Given the description of an element on the screen output the (x, y) to click on. 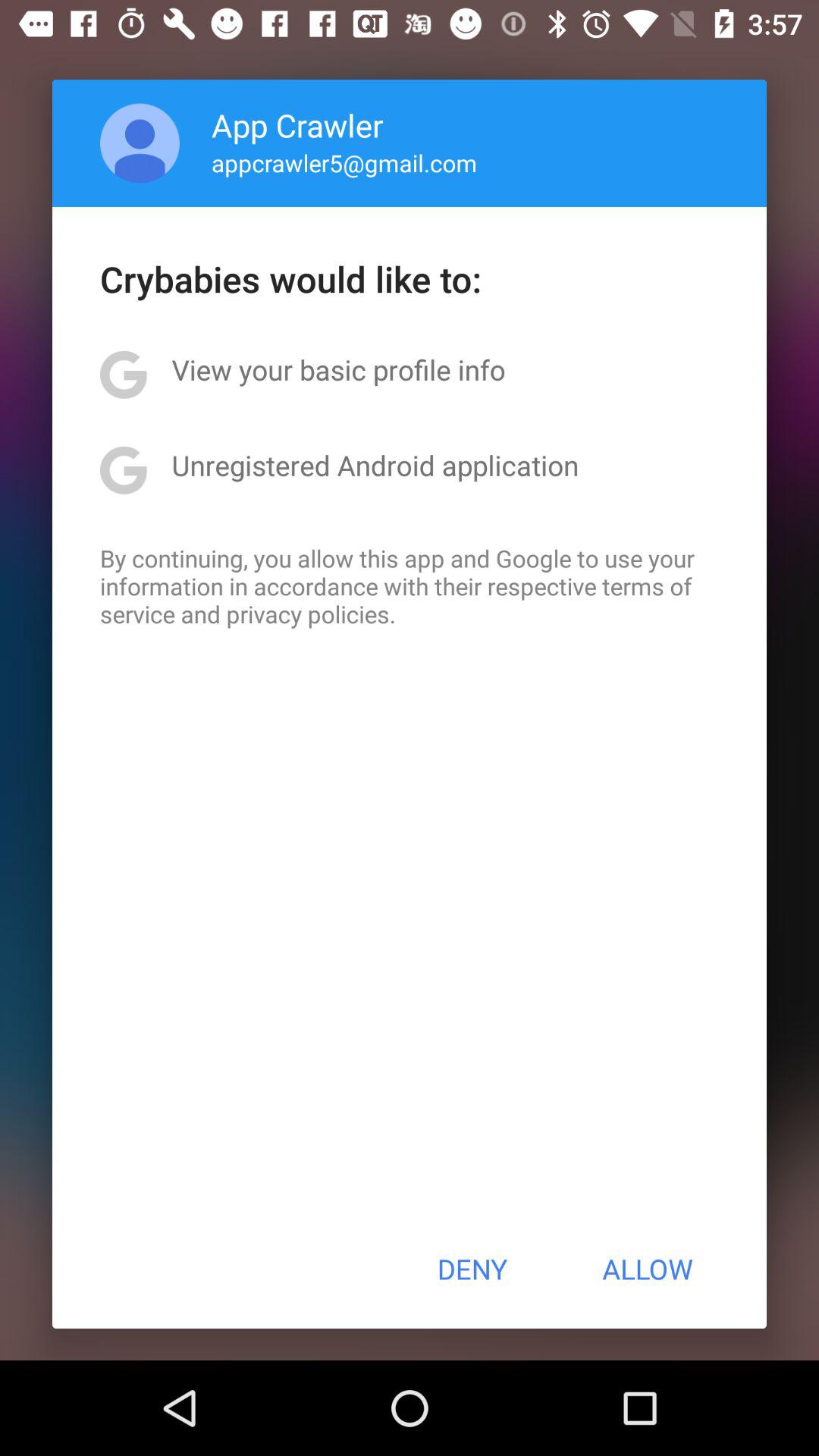
click icon below the crybabies would like item (338, 369)
